Given the description of an element on the screen output the (x, y) to click on. 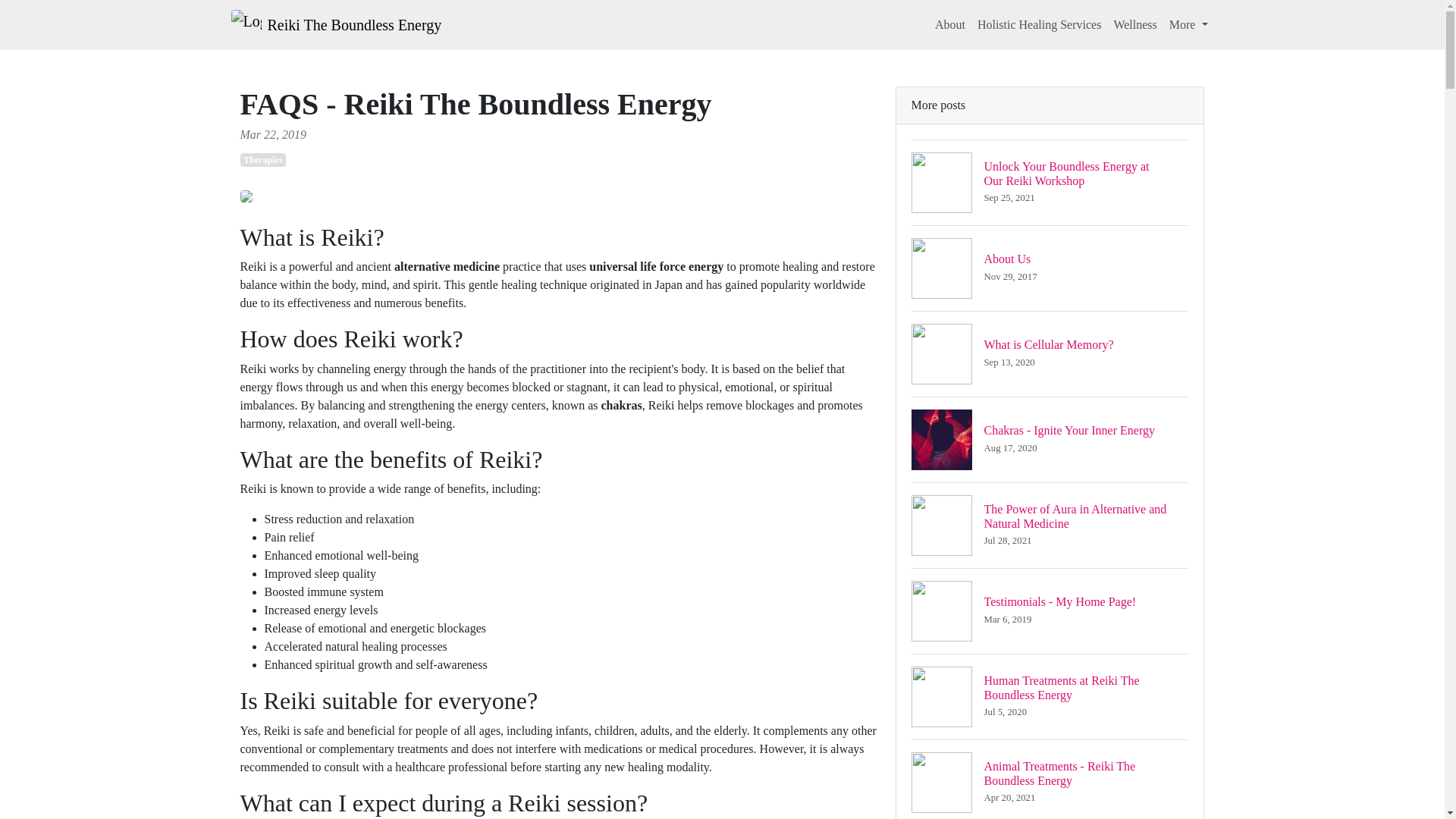
Therapies (262, 160)
Reiki The Boundless Energy (1050, 268)
About (335, 24)
Wellness (949, 24)
Holistic Healing Services (1050, 696)
More (1133, 24)
